Given the description of an element on the screen output the (x, y) to click on. 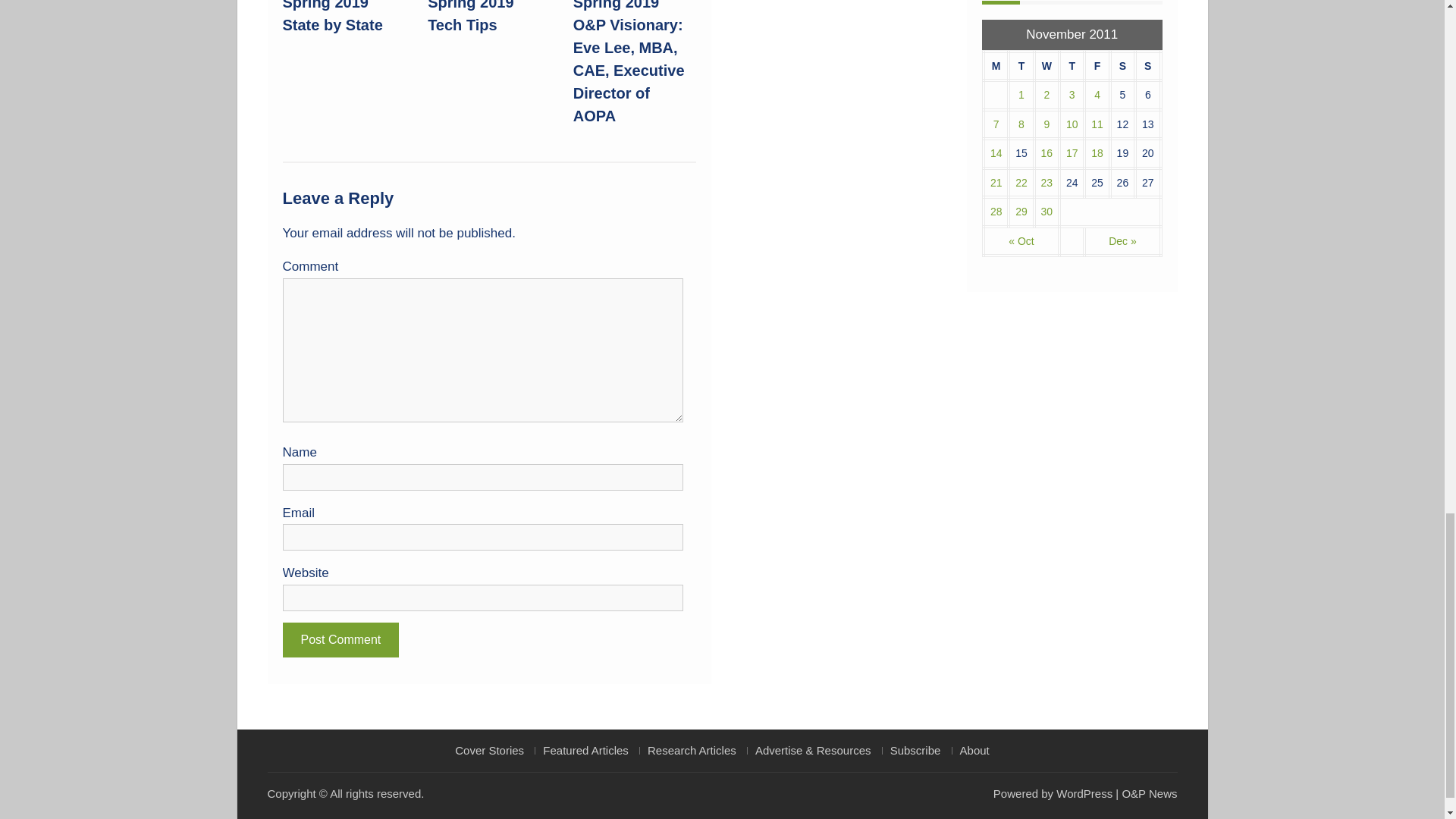
Post Comment (340, 639)
Post Comment (340, 639)
Spring 2019 State by State (331, 16)
Spring 2019 Tech Tips (470, 16)
